Given the description of an element on the screen output the (x, y) to click on. 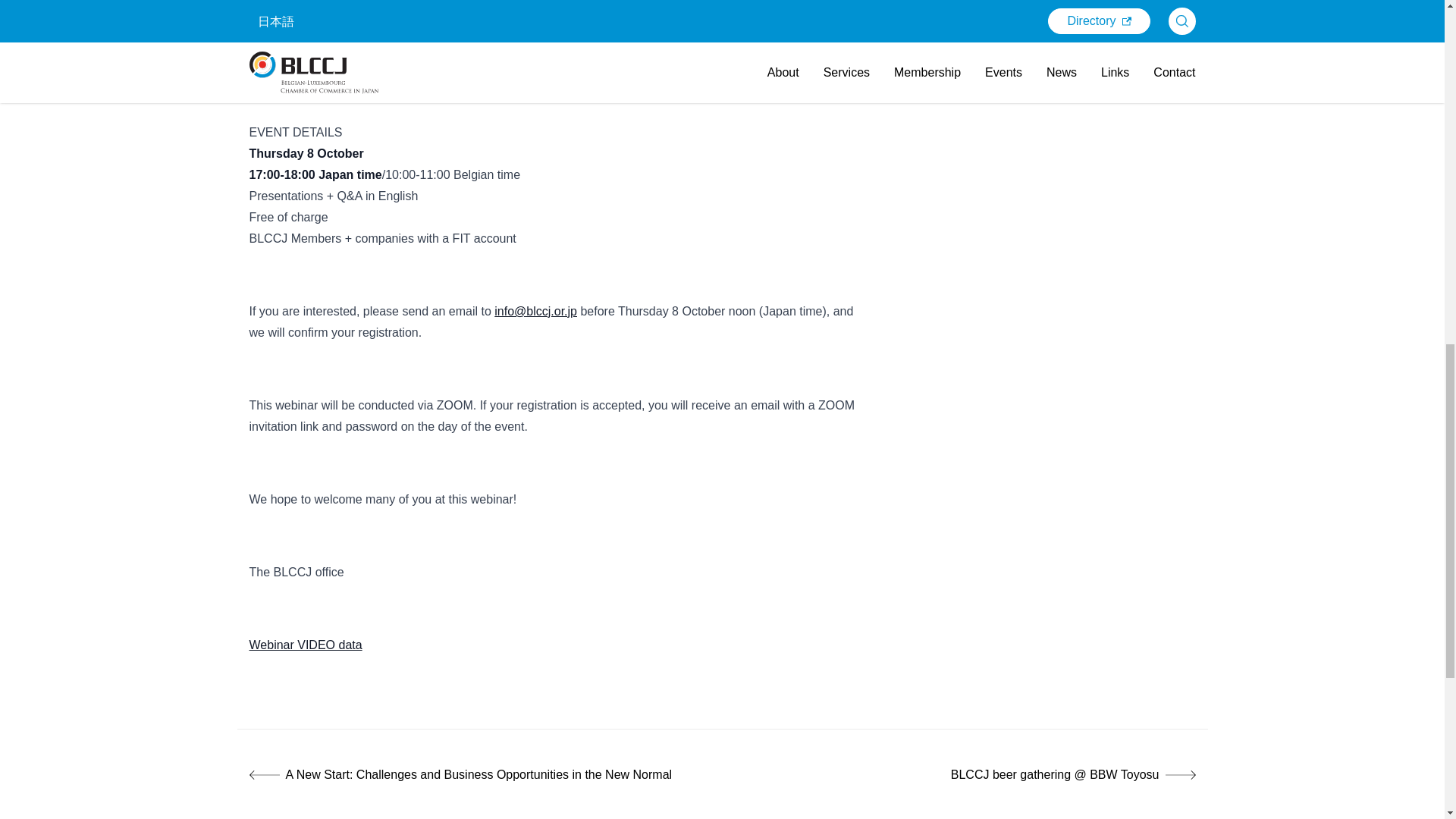
Webinar VIDEO data (305, 644)
